Given the description of an element on the screen output the (x, y) to click on. 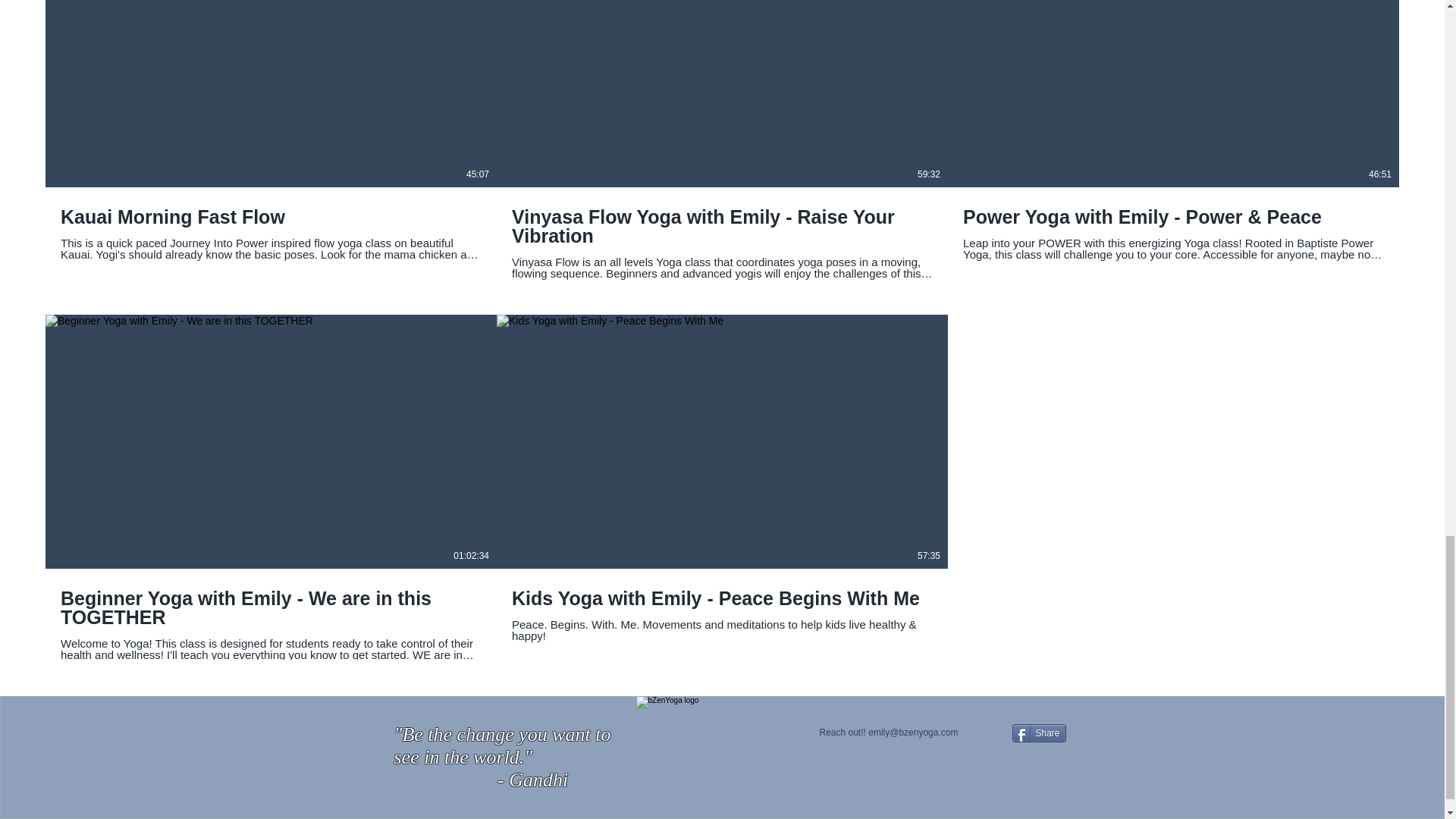
Kids Yoga with Emily - Peace Begins With Me (722, 598)
Vinyasa Flow Yoga with Emily - Raise Your Vibration (722, 226)
Beginner Yoga with Emily -  We are in this TOGETHER (271, 607)
Share (1038, 732)
Kauai Morning Fast Flow (271, 216)
